Given the description of an element on the screen output the (x, y) to click on. 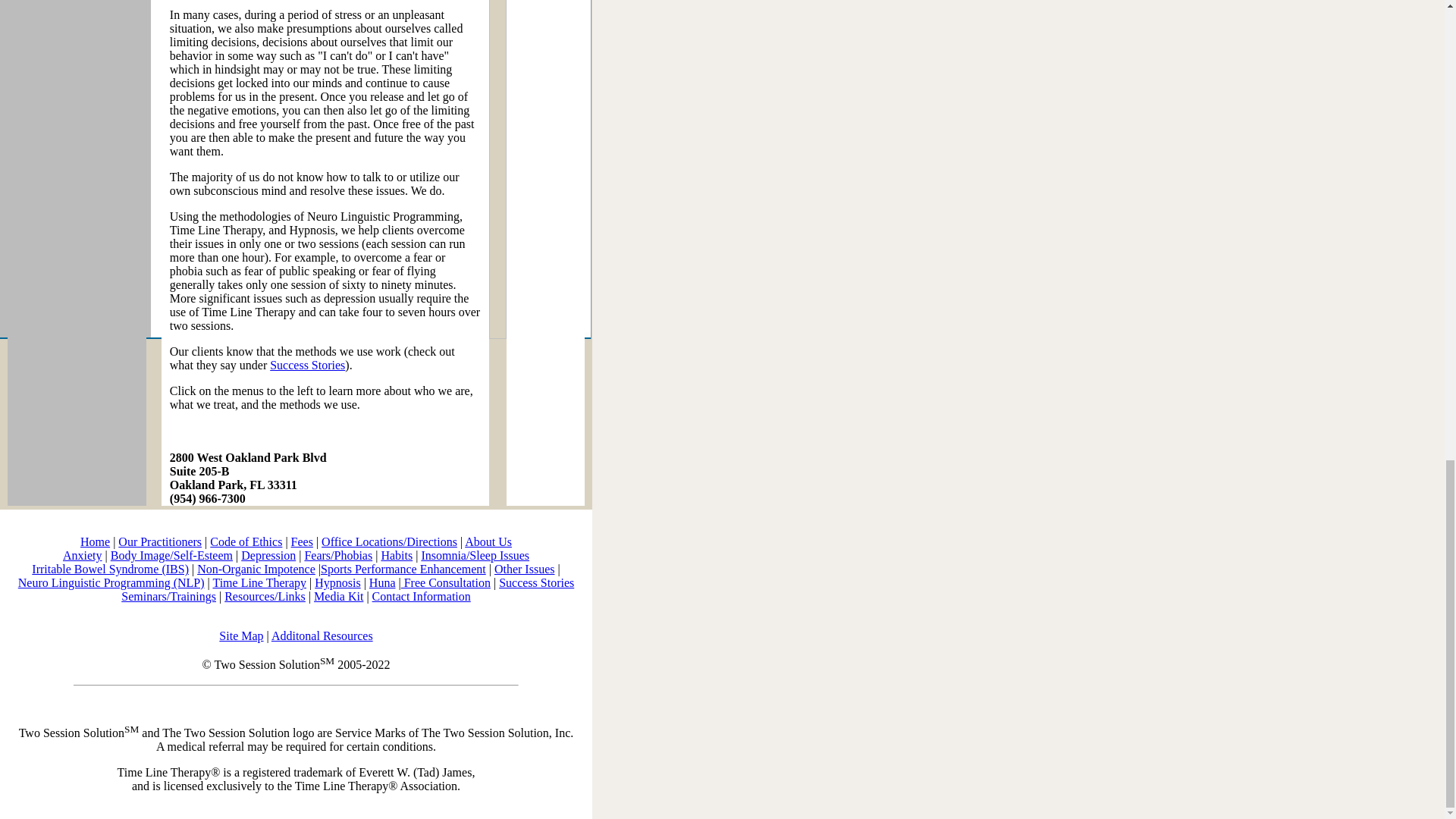
Fees (302, 541)
Success Stories (307, 364)
Contact Information (421, 595)
Habits (396, 554)
Code of Ethics (245, 541)
Success Stories (536, 582)
Hypnosis (336, 582)
Sports Performance Enhancement (403, 568)
Huna (382, 582)
Media Kit (338, 595)
Time Line Therapy (258, 582)
Free Consultation (445, 582)
Depression (268, 554)
Other Issues (524, 568)
Home (95, 541)
